Given the description of an element on the screen output the (x, y) to click on. 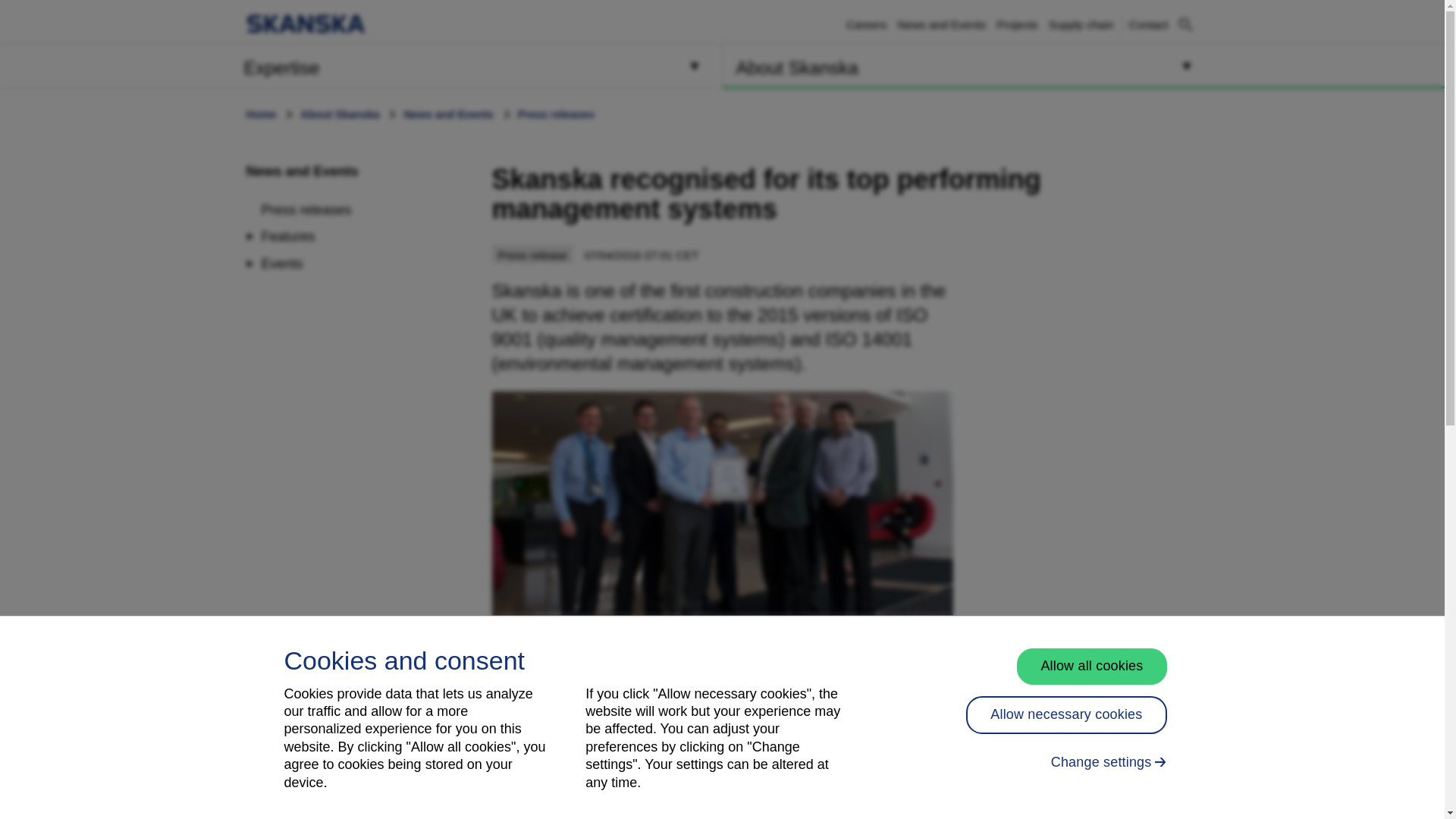
Skanska recognised for its top performing management systems (1149, 24)
News and Events (722, 503)
Contact (361, 65)
Careers (302, 171)
News and Events (1149, 24)
Supply chain (865, 24)
Skanska (940, 24)
Projects (1080, 24)
